Given the description of an element on the screen output the (x, y) to click on. 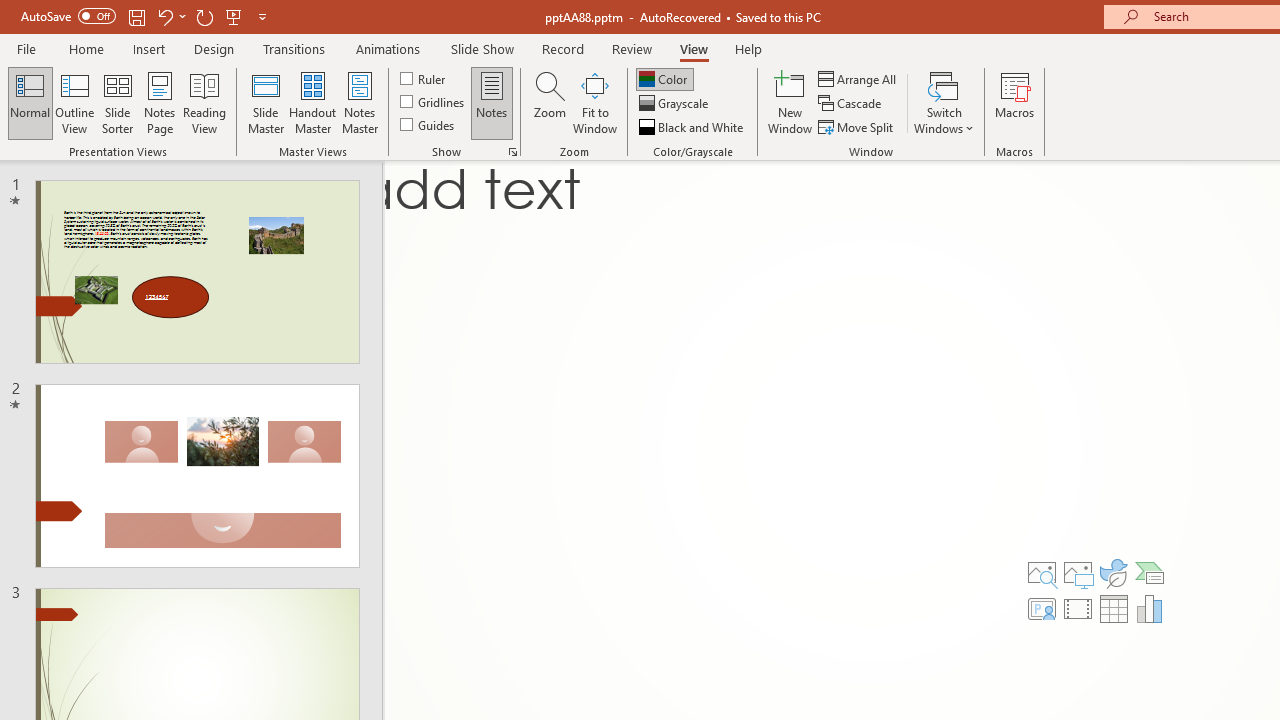
Zoom... (549, 102)
Black and White (693, 126)
New Window (790, 102)
Grid Settings... (512, 151)
Notes Page (159, 102)
Ruler (423, 78)
